Given the description of an element on the screen output the (x, y) to click on. 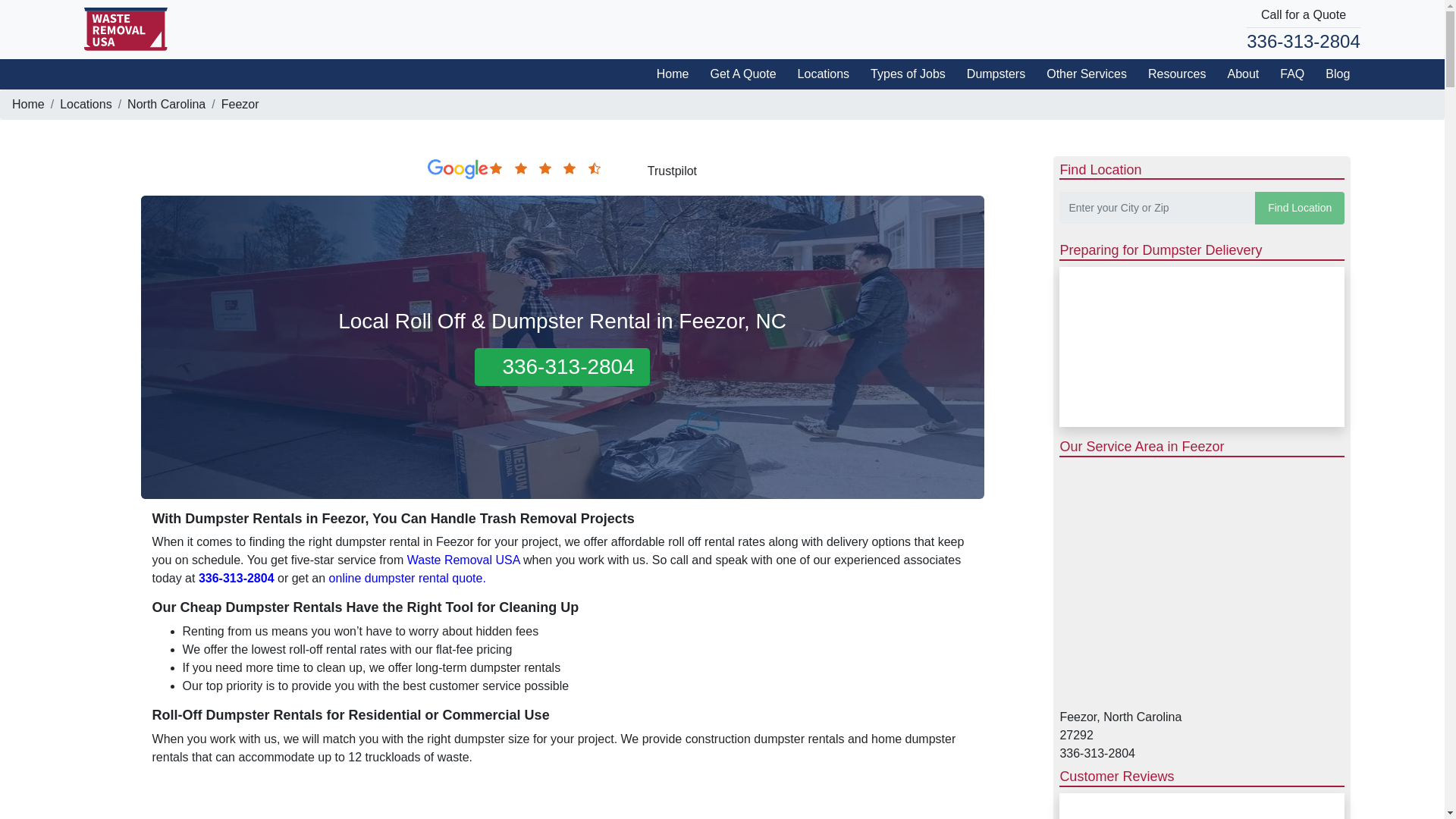
About (1237, 73)
FAQ (1286, 73)
336-313-2804 (1302, 41)
Find Location (1299, 207)
Find Location (1299, 207)
Locations (85, 103)
Resources (1171, 73)
Types of Jobs (902, 73)
North Carolina (166, 103)
Dumpsters (990, 73)
